Given the description of an element on the screen output the (x, y) to click on. 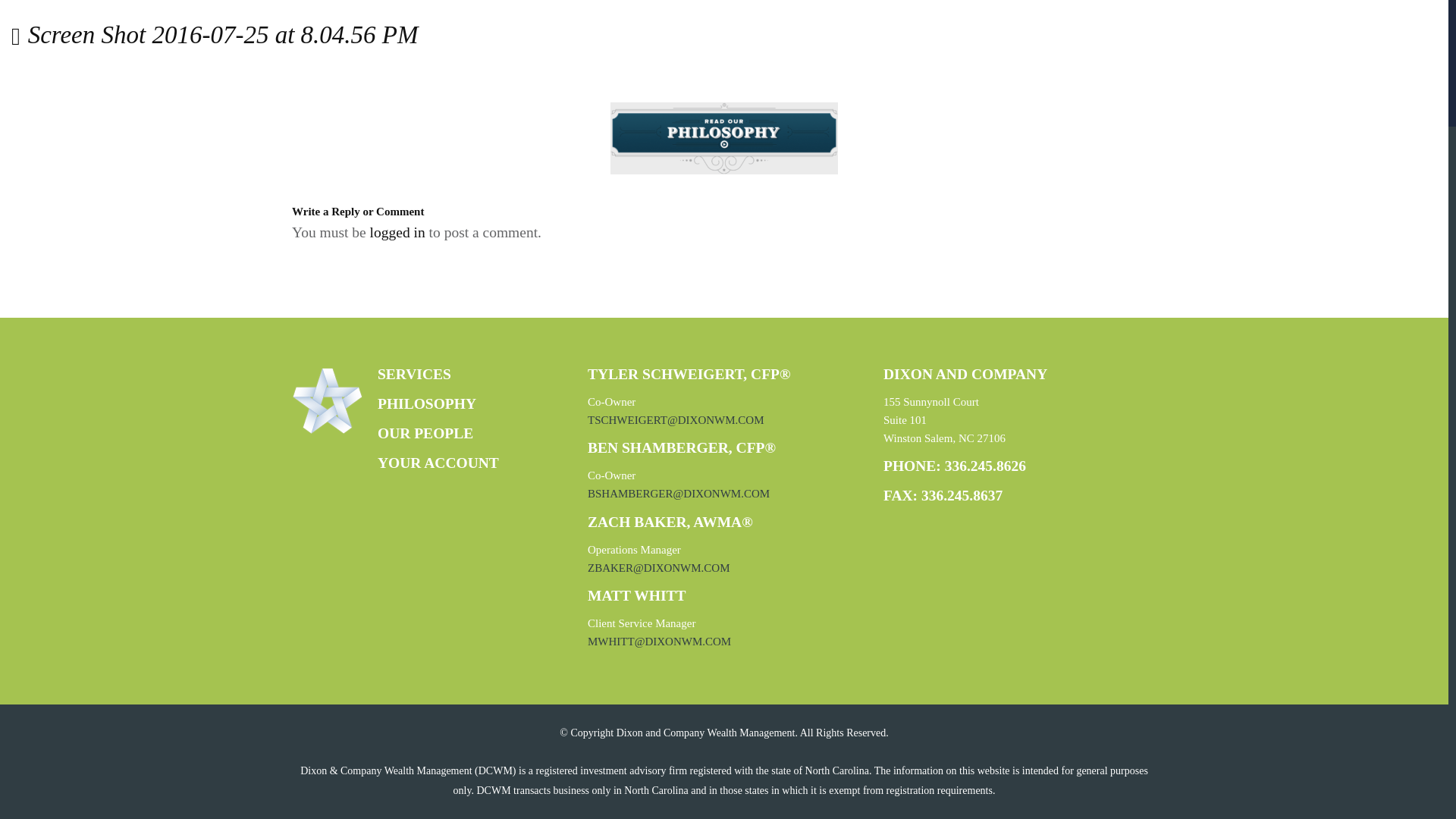
OUR PEOPLE (425, 433)
SERVICES (414, 374)
PHILOSOPHY (426, 403)
YOUR ACCOUNT (438, 462)
logged in (397, 232)
